Given the description of an element on the screen output the (x, y) to click on. 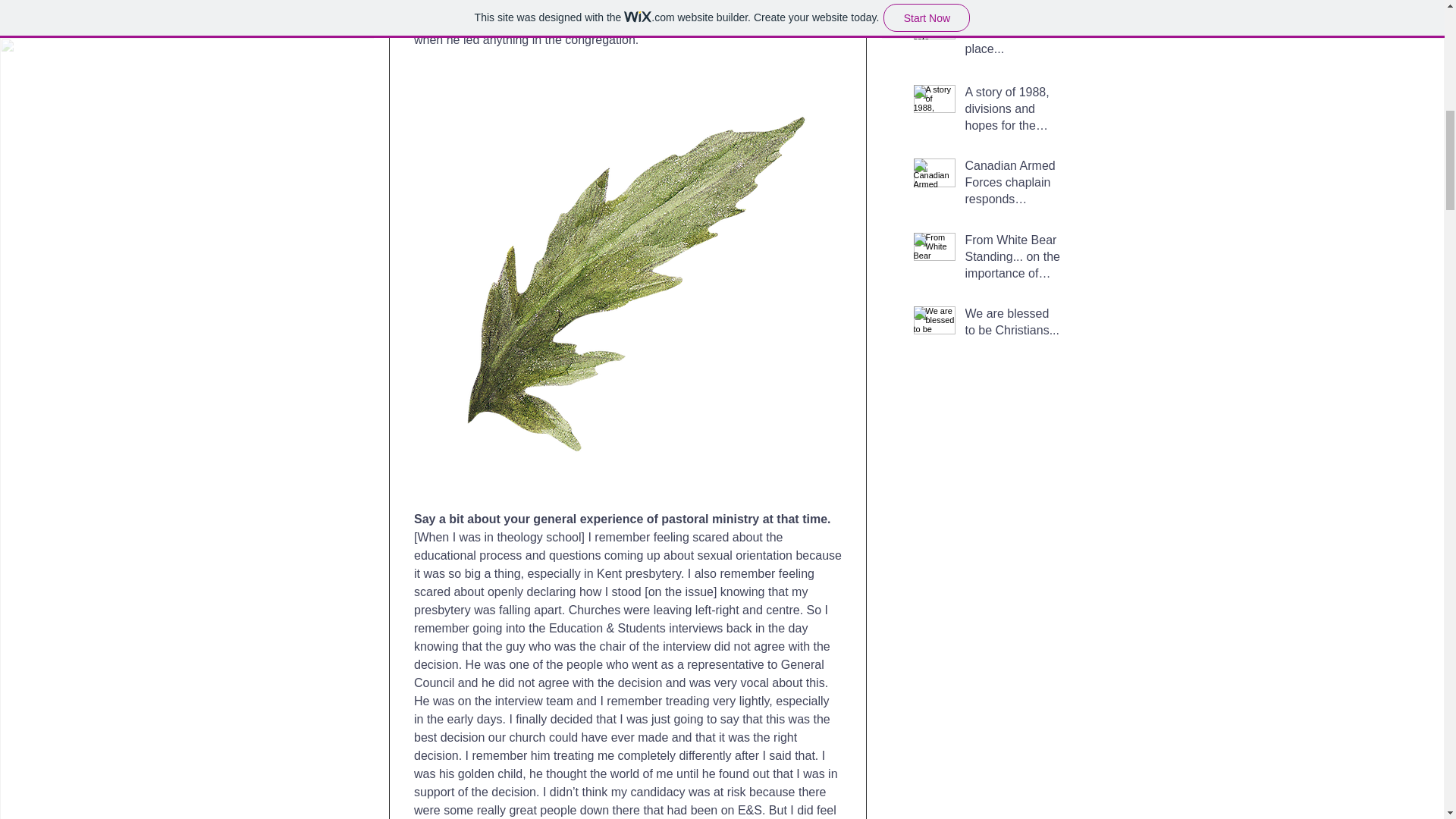
The church has been a safe place... (1012, 35)
A story of 1988, divisions and hopes for the future (1012, 112)
We are blessed to be Christians... (1012, 325)
